Given the description of an element on the screen output the (x, y) to click on. 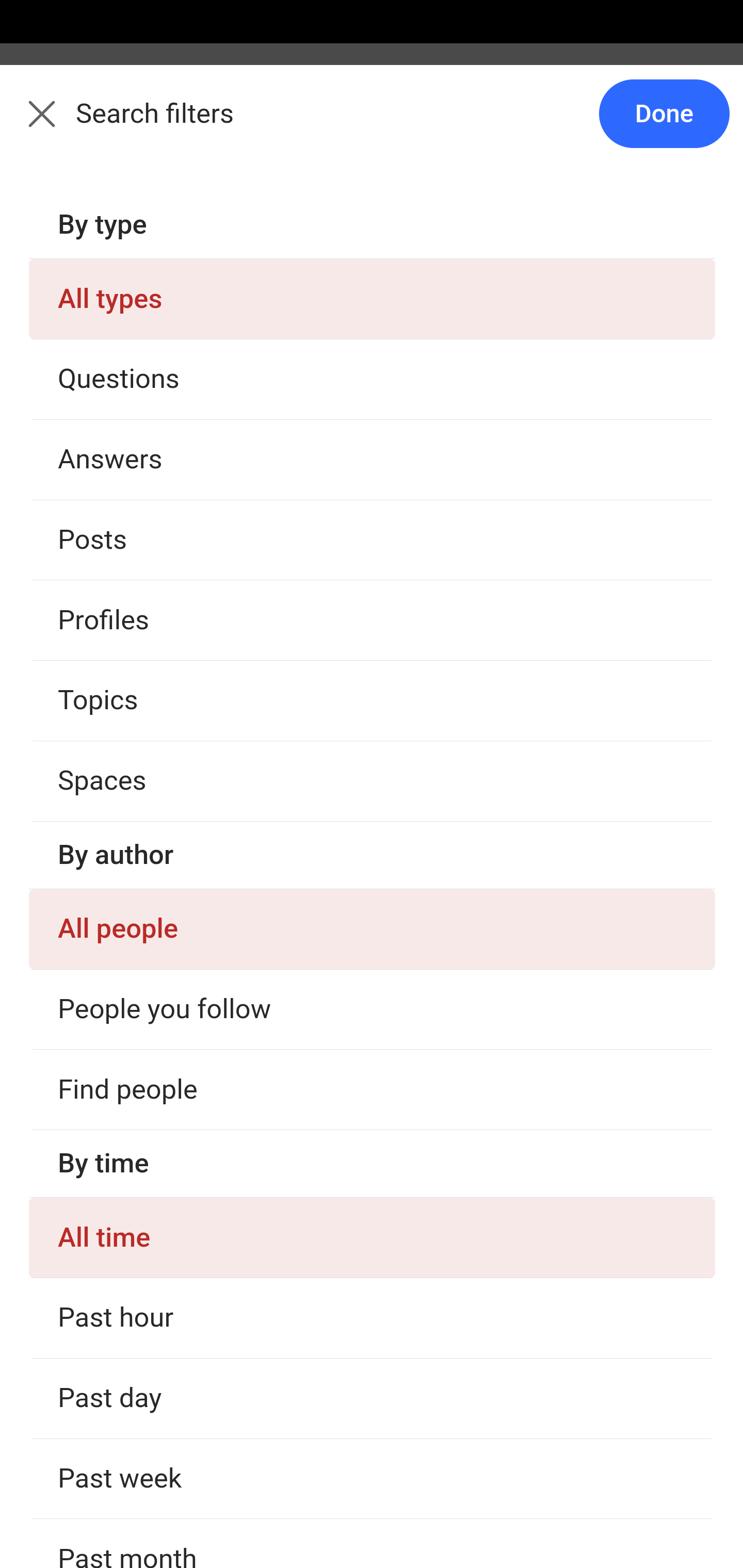
Back Search (371, 125)
Back (30, 125)
Upvote (133, 544)
Answer (125, 783)
Answer (125, 1022)
